Given the description of an element on the screen output the (x, y) to click on. 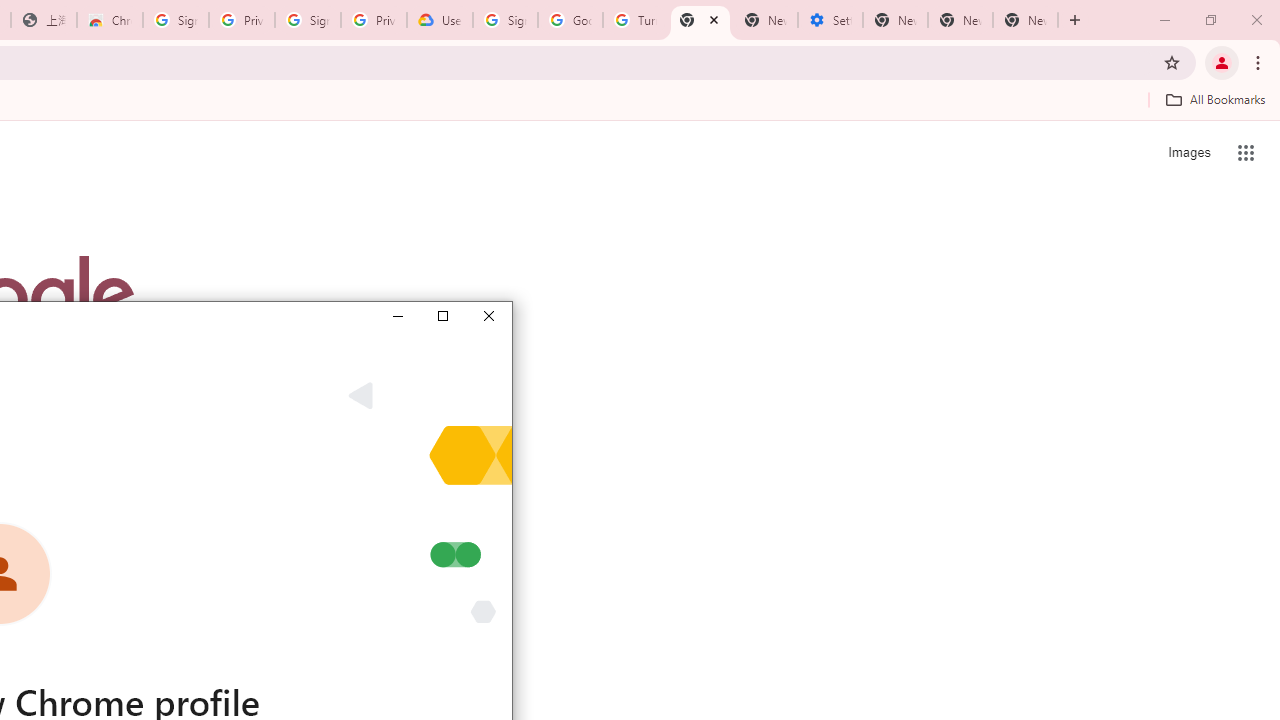
Sign in - Google Accounts (504, 20)
Settings - System (829, 20)
New Tab (700, 20)
Google Account Help (569, 20)
